Given the description of an element on the screen output the (x, y) to click on. 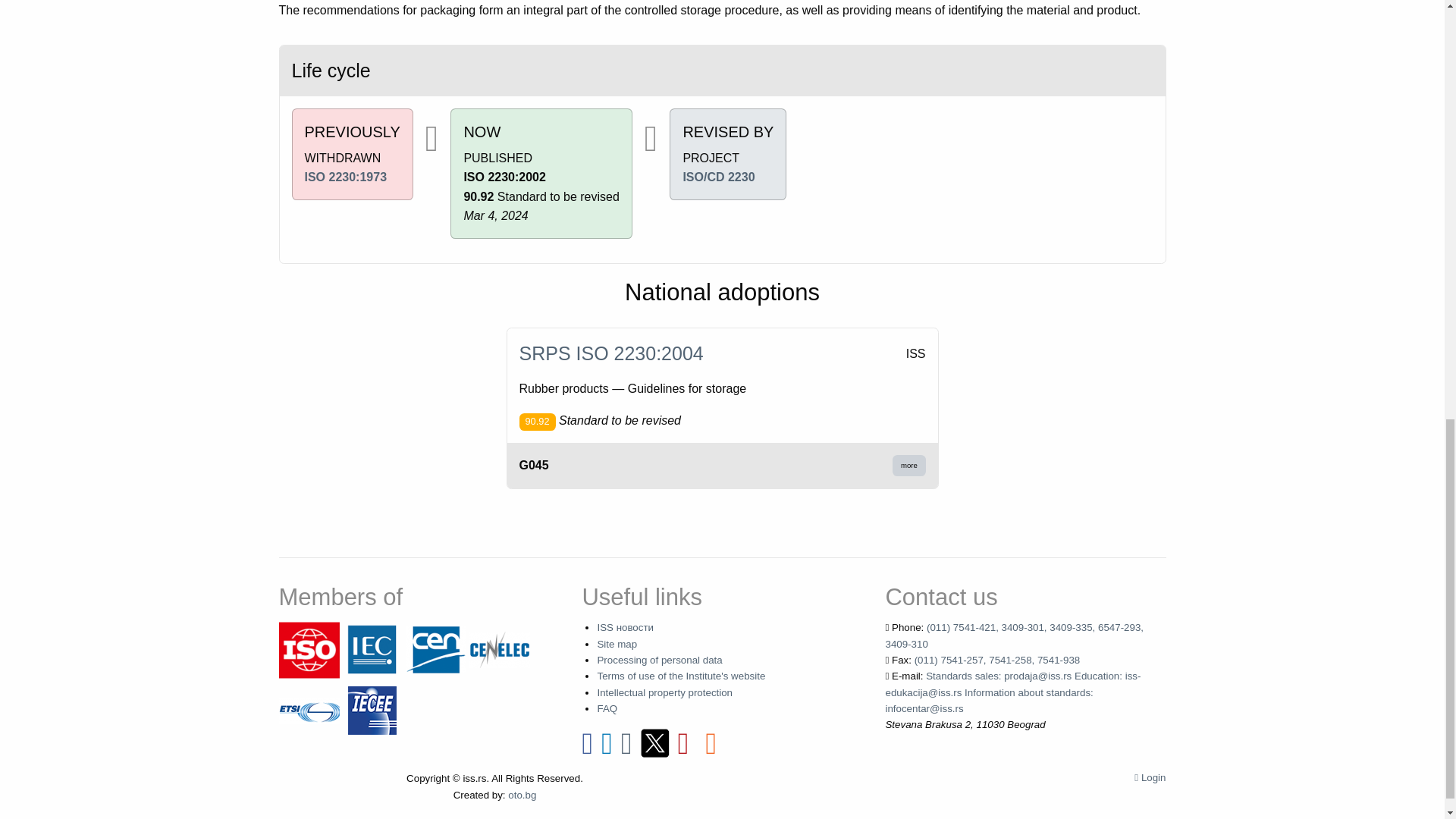
CENELEC (498, 649)
ISO (309, 649)
IECEE (372, 709)
CEN (435, 649)
ETSI (309, 709)
IEC (372, 649)
Standard to be revised (536, 421)
